Given the description of an element on the screen output the (x, y) to click on. 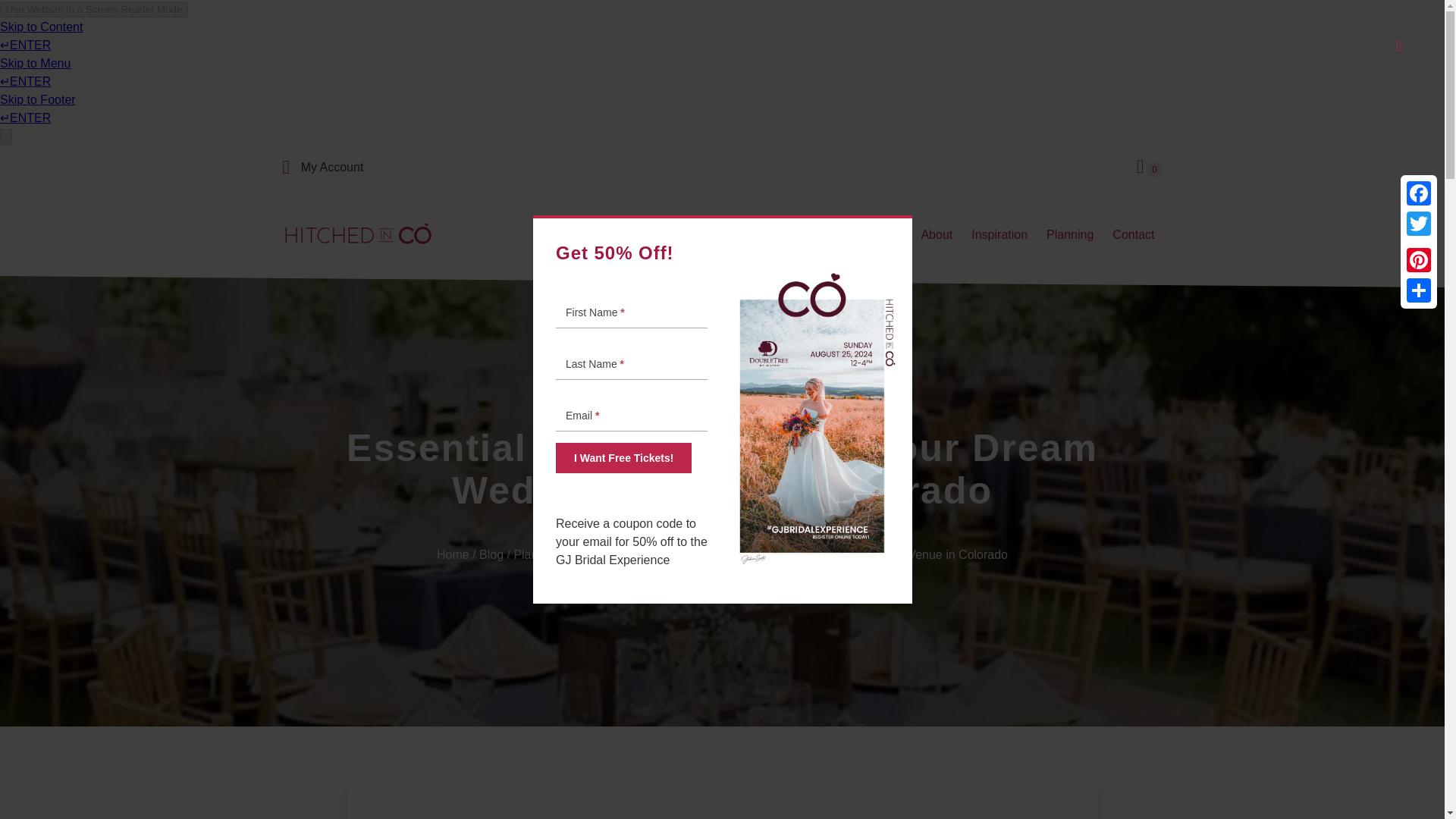
Events (720, 235)
About (934, 235)
Vendors (659, 235)
Inspiration (997, 235)
0 (1149, 167)
Contact (1131, 235)
Bridal Experience (805, 235)
My Account (332, 167)
hitched-horizontal-vivaMagenta (357, 234)
Home (452, 554)
Shop (885, 235)
Blog (491, 554)
Planning (1068, 235)
